Given the description of an element on the screen output the (x, y) to click on. 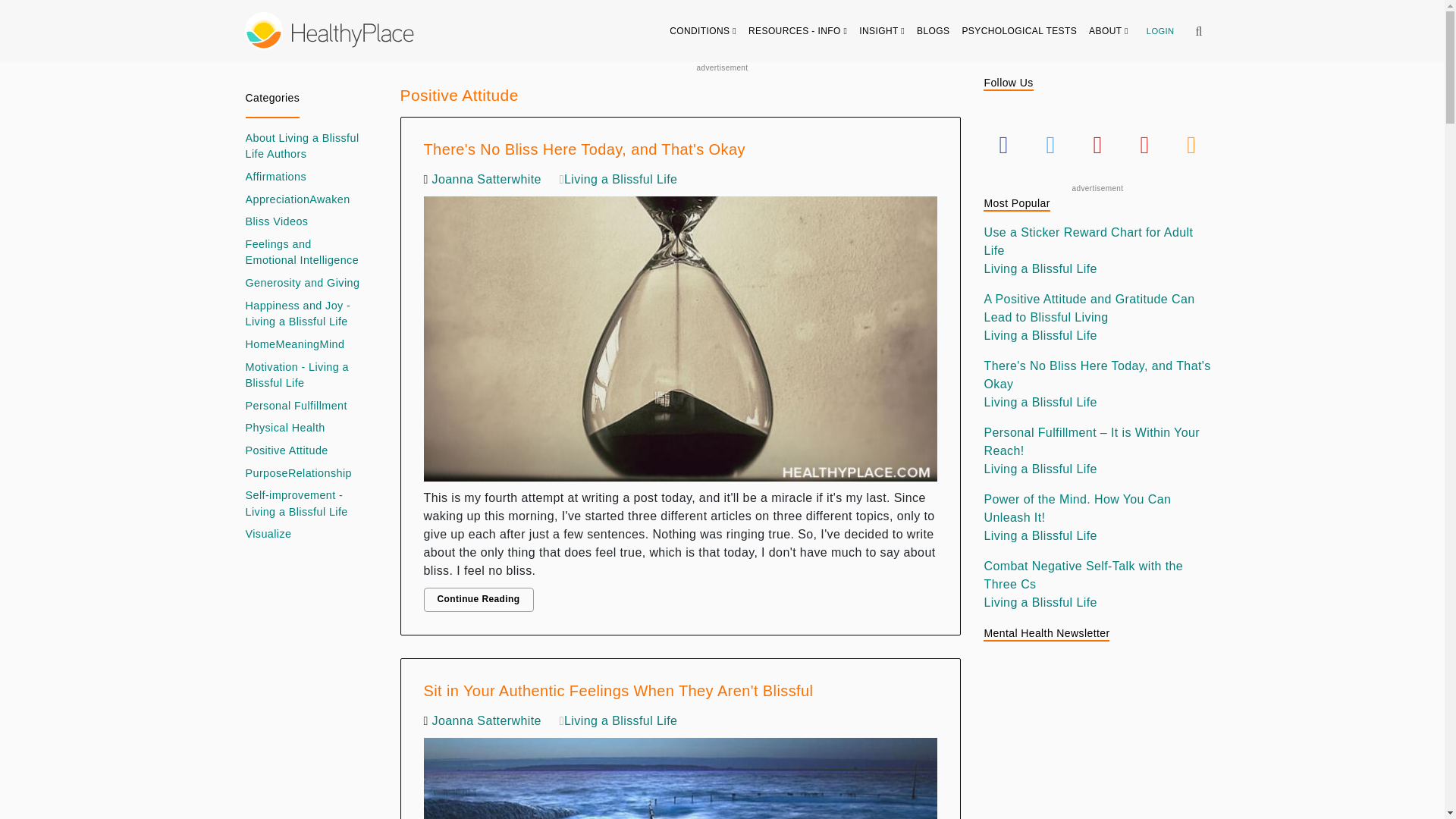
CONDITIONS (702, 31)
Sit in Your Authentic Feelings When They Aren't Blissful (680, 774)
RESOURCES - INFO (797, 31)
INSIGHT (882, 31)
